Given the description of an element on the screen output the (x, y) to click on. 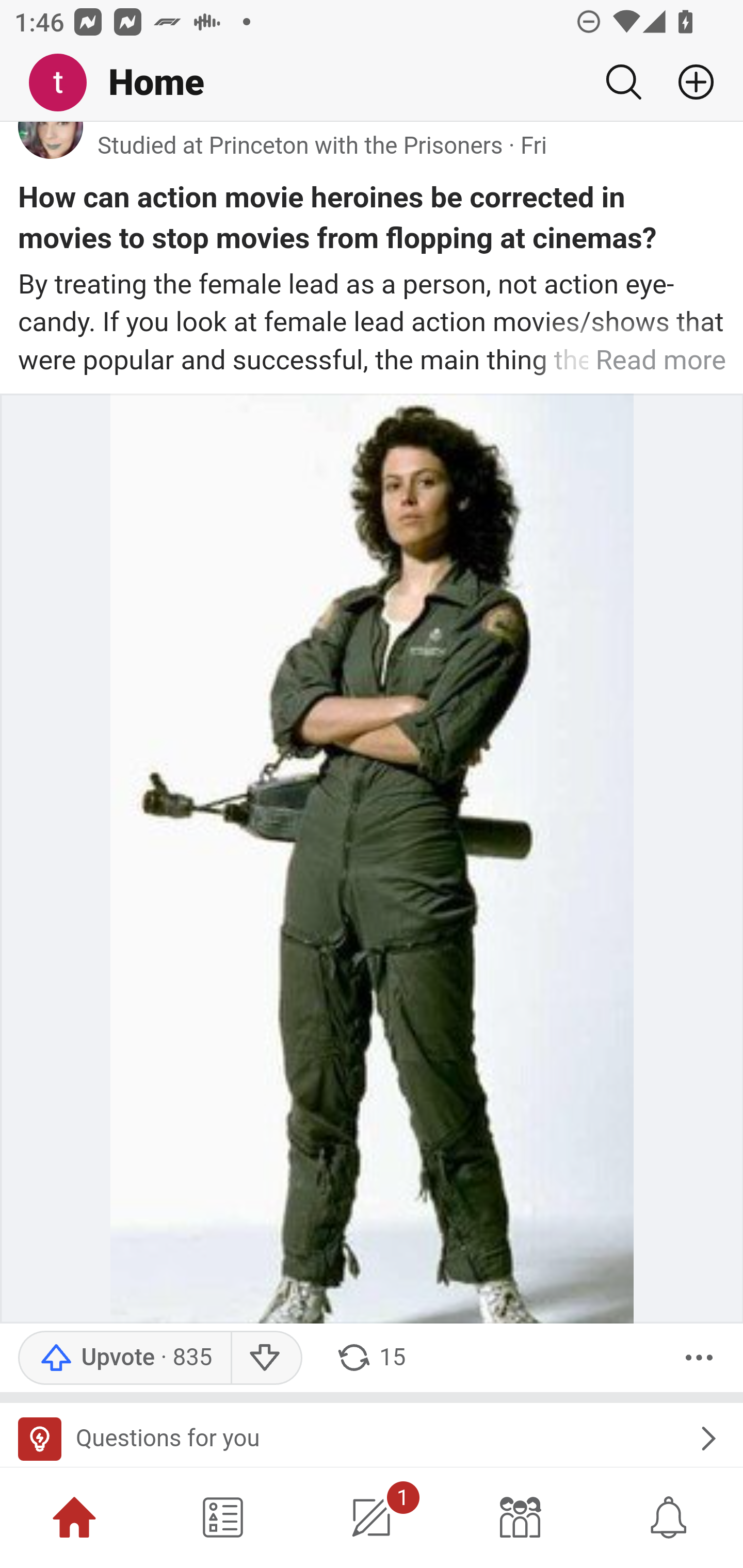
Me (64, 83)
Search (623, 82)
Add (688, 82)
Profile photo for Lara (50, 140)
Upvote (124, 1357)
Downvote (266, 1357)
15 shares (370, 1357)
More (699, 1357)
Questions for you (371, 1435)
1 (371, 1517)
